Given the description of an element on the screen output the (x, y) to click on. 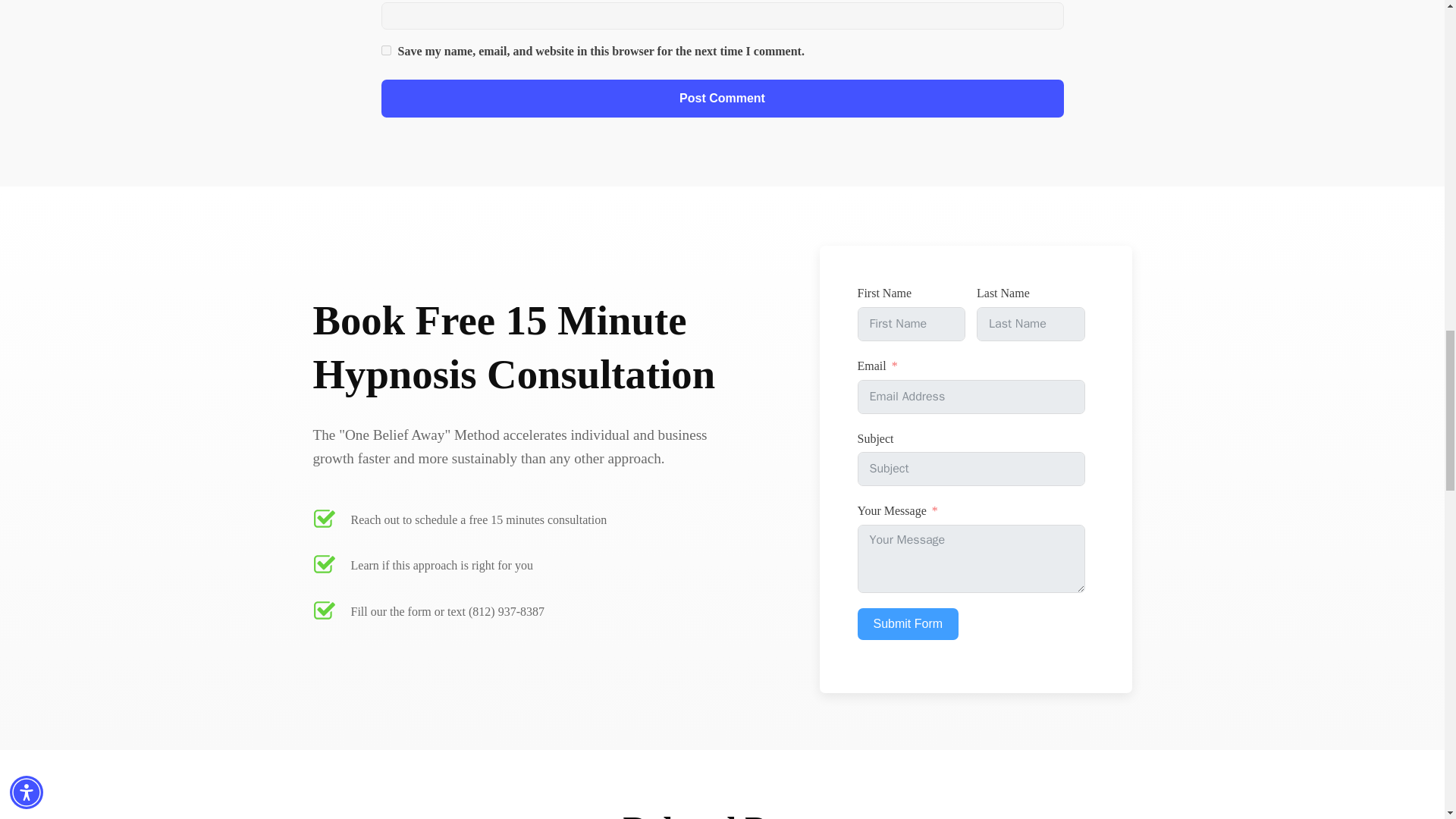
Post Comment (721, 98)
yes (385, 50)
Submit Form (907, 623)
Post Comment (721, 98)
